Given the description of an element on the screen output the (x, y) to click on. 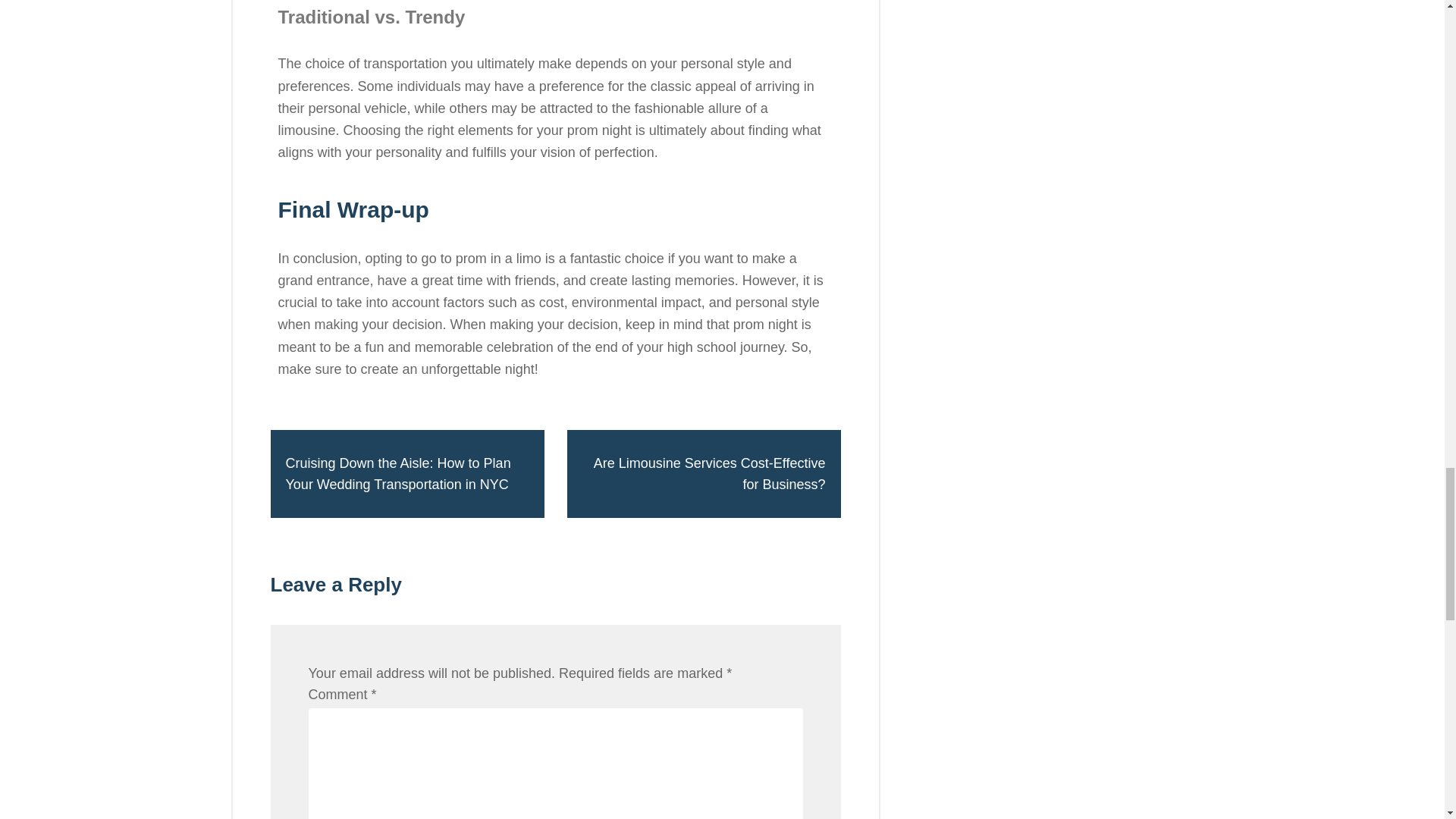
Are Limousine Services Cost-Effective for Business? (704, 473)
